Given the description of an element on the screen output the (x, y) to click on. 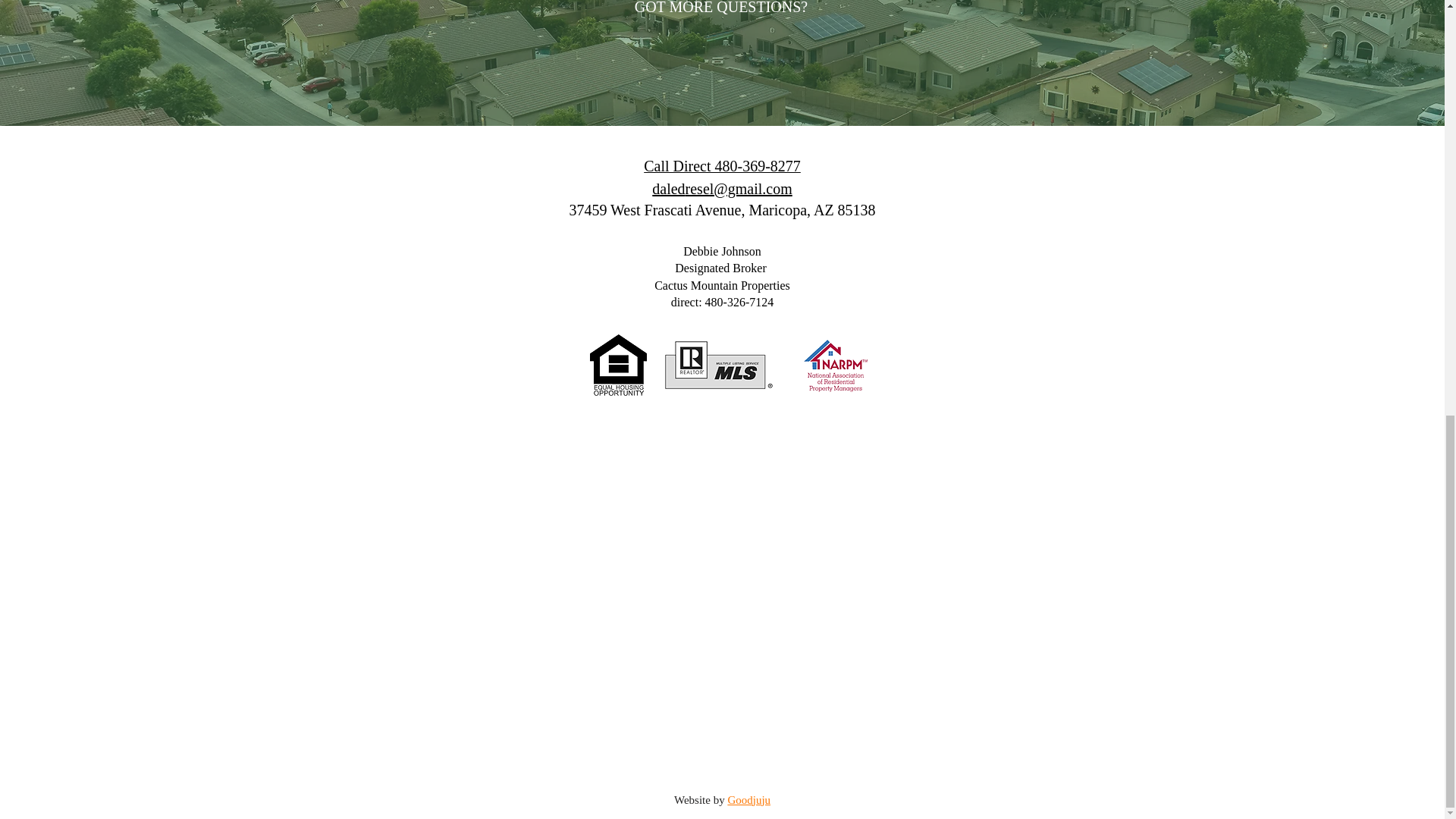
Goodjuju (748, 799)
Call Direct 480-369-8277 (721, 166)
